Given the description of an element on the screen output the (x, y) to click on. 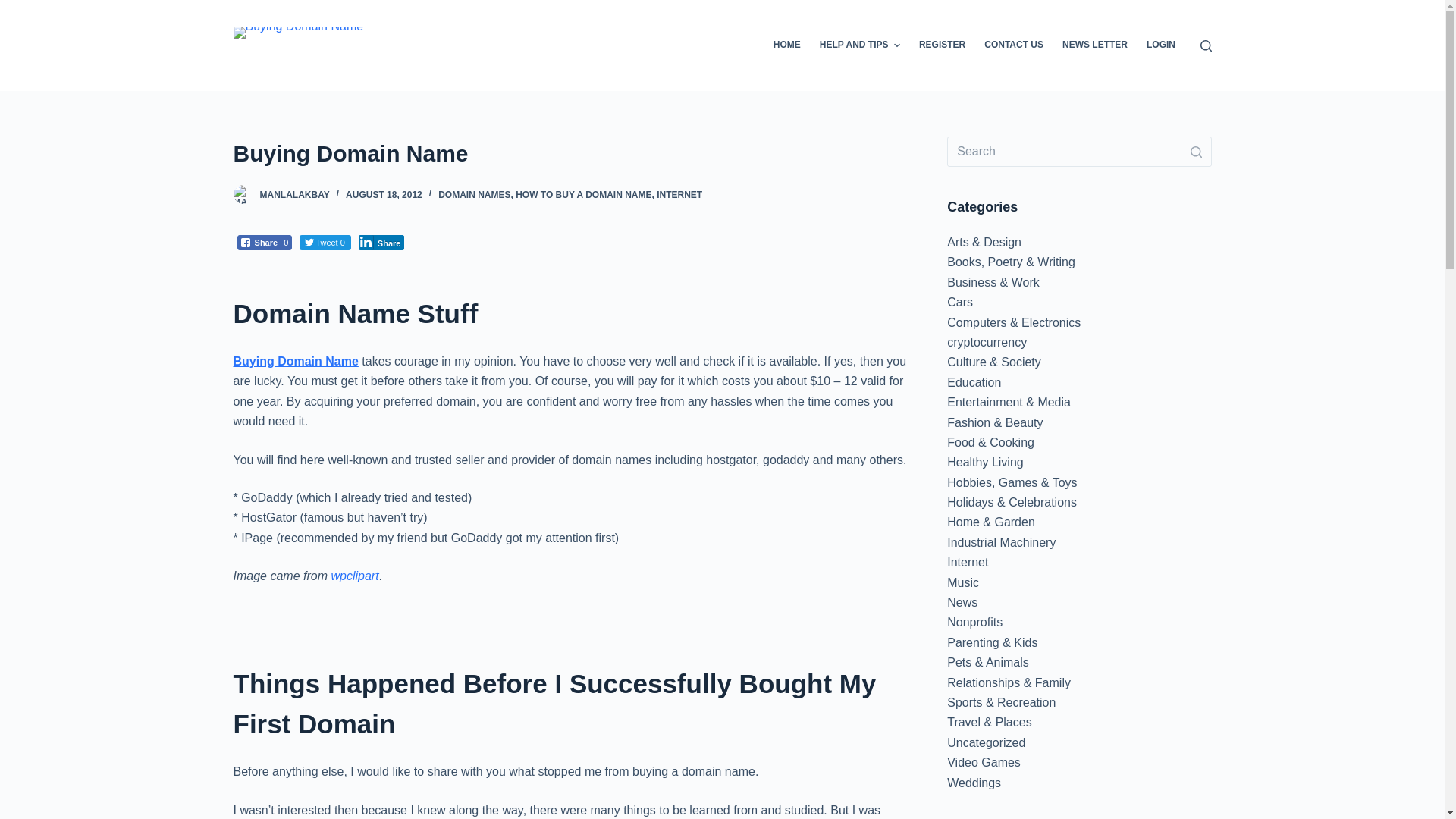
Skip to content (15, 7)
Posts by manlalakbay (294, 194)
Search for... (1079, 151)
Buying Domain Name (570, 153)
Buying Domain Name (298, 32)
